Given the description of an element on the screen output the (x, y) to click on. 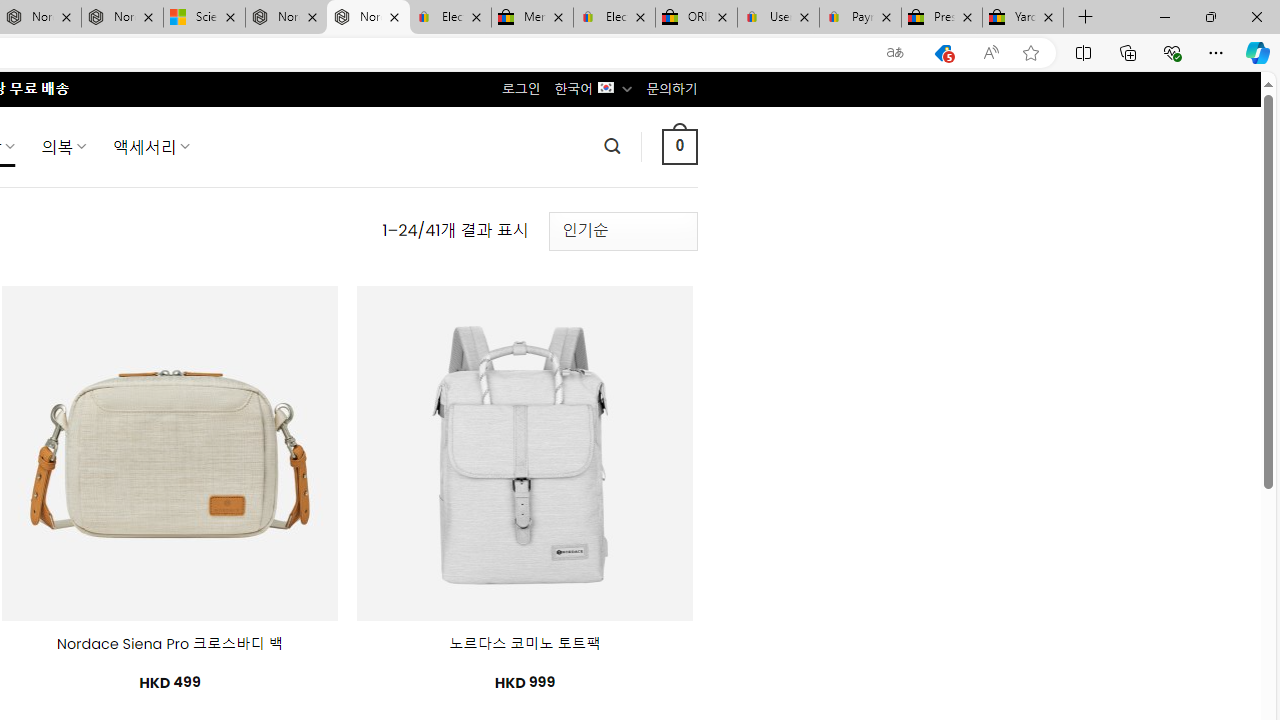
Payments Terms of Use | eBay.com (860, 17)
Yard, Garden & Outdoor Living (1023, 17)
